Given the description of an element on the screen output the (x, y) to click on. 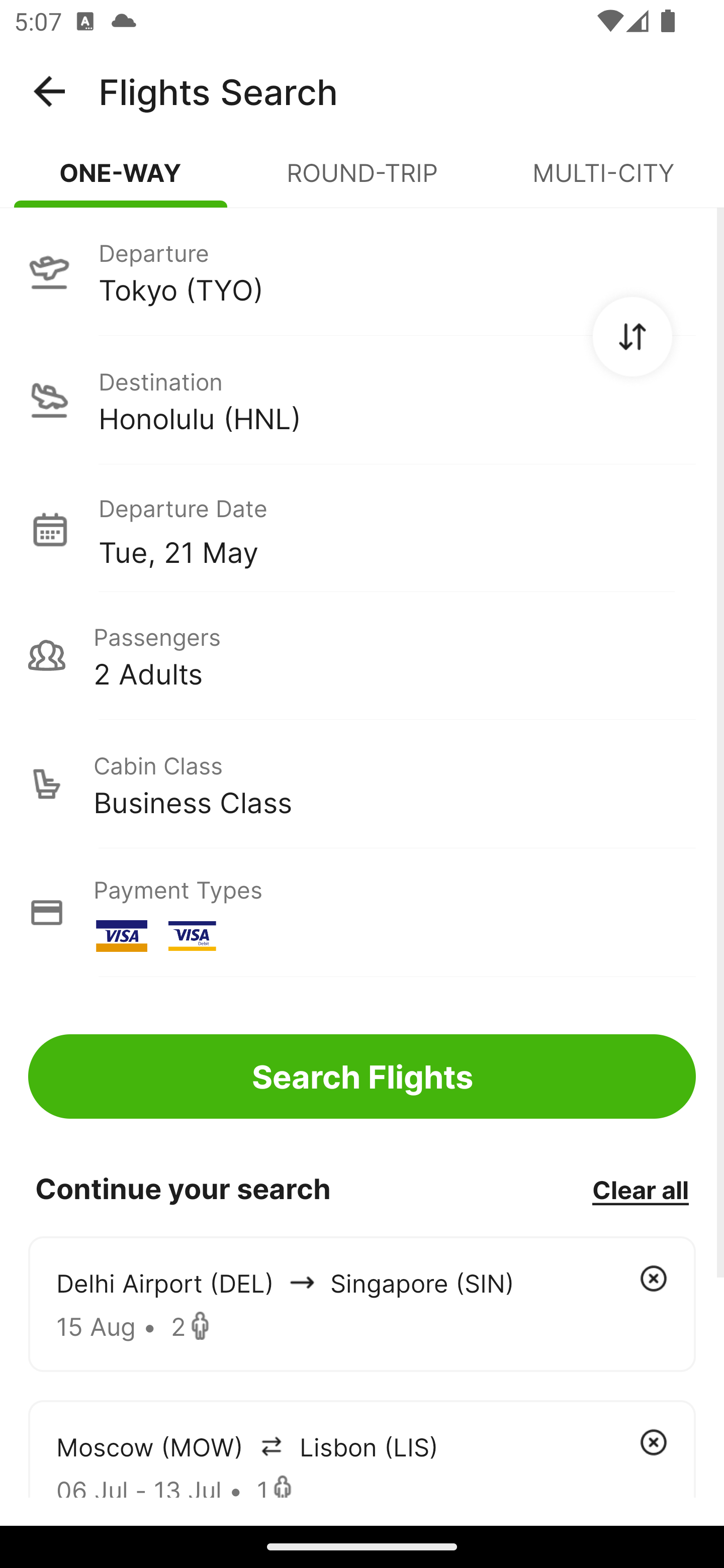
ONE-WAY (120, 180)
ROUND-TRIP (361, 180)
MULTI-CITY (603, 180)
Departure Tokyo (TYO) (362, 270)
Destination Honolulu (HNL) (362, 400)
Departure Date Tue, 21 May (396, 528)
Passengers 2 Adults (362, 655)
Cabin Class Business Class (362, 783)
Payment Types (362, 912)
Search Flights (361, 1075)
Clear all (640, 1189)
